Given the description of an element on the screen output the (x, y) to click on. 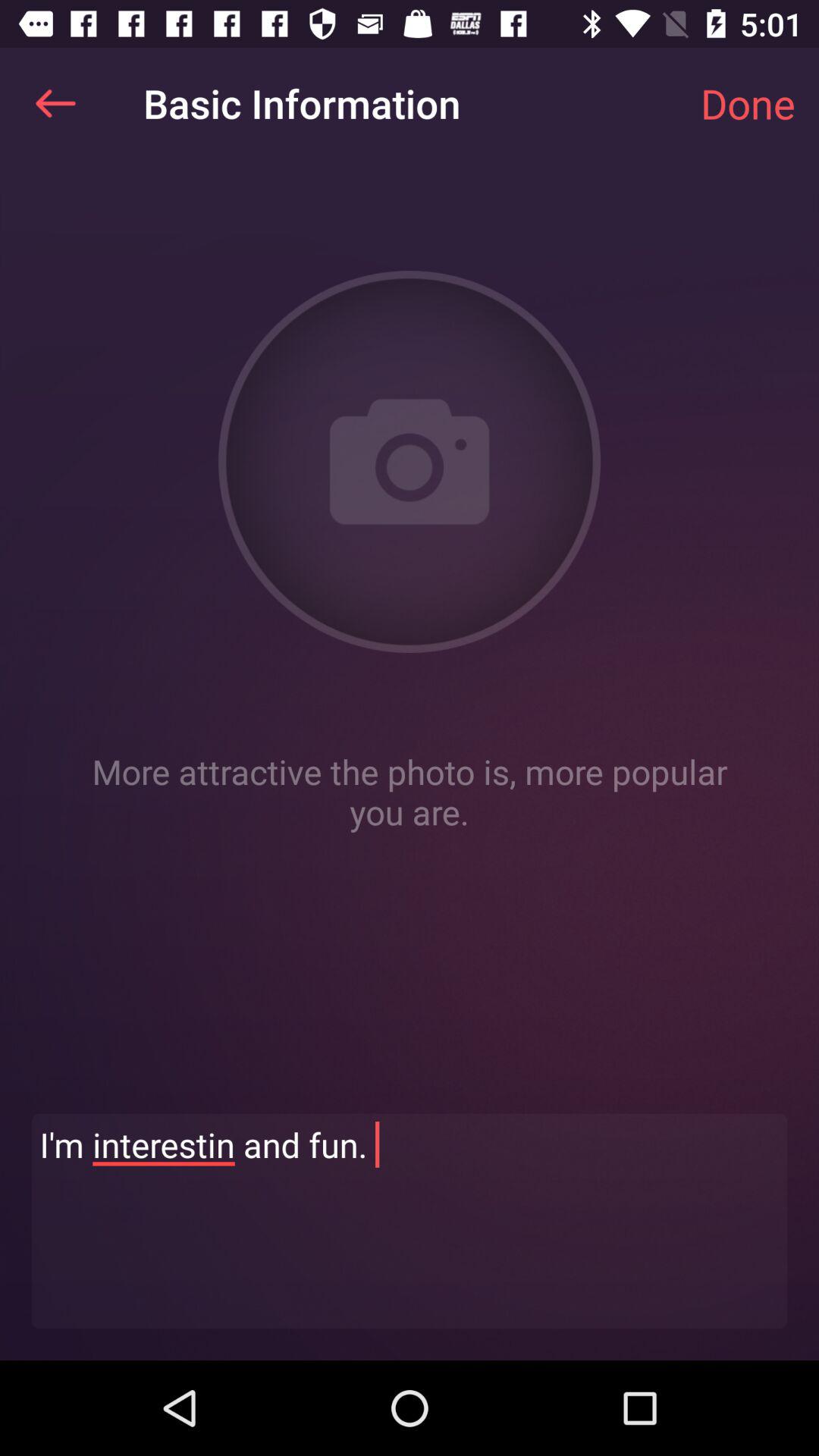
launch the i m interestin (409, 1220)
